Given the description of an element on the screen output the (x, y) to click on. 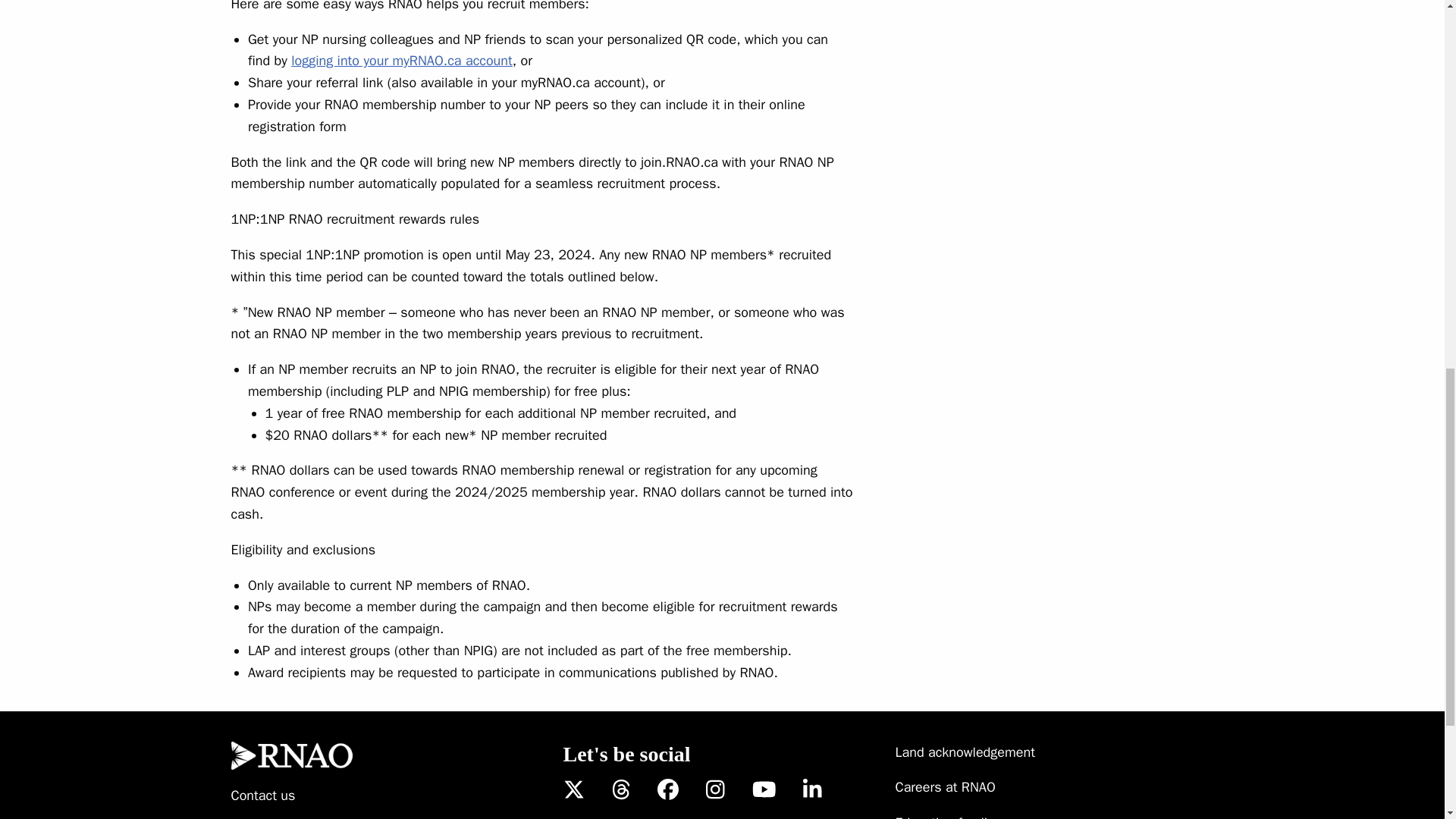
RNAO YouTube (764, 790)
Threads (620, 790)
RNAO Twitter (572, 790)
RNAO Instagram (715, 790)
RNAO Facebook page (668, 790)
RNAO LinkedIn (812, 790)
